Given the description of an element on the screen output the (x, y) to click on. 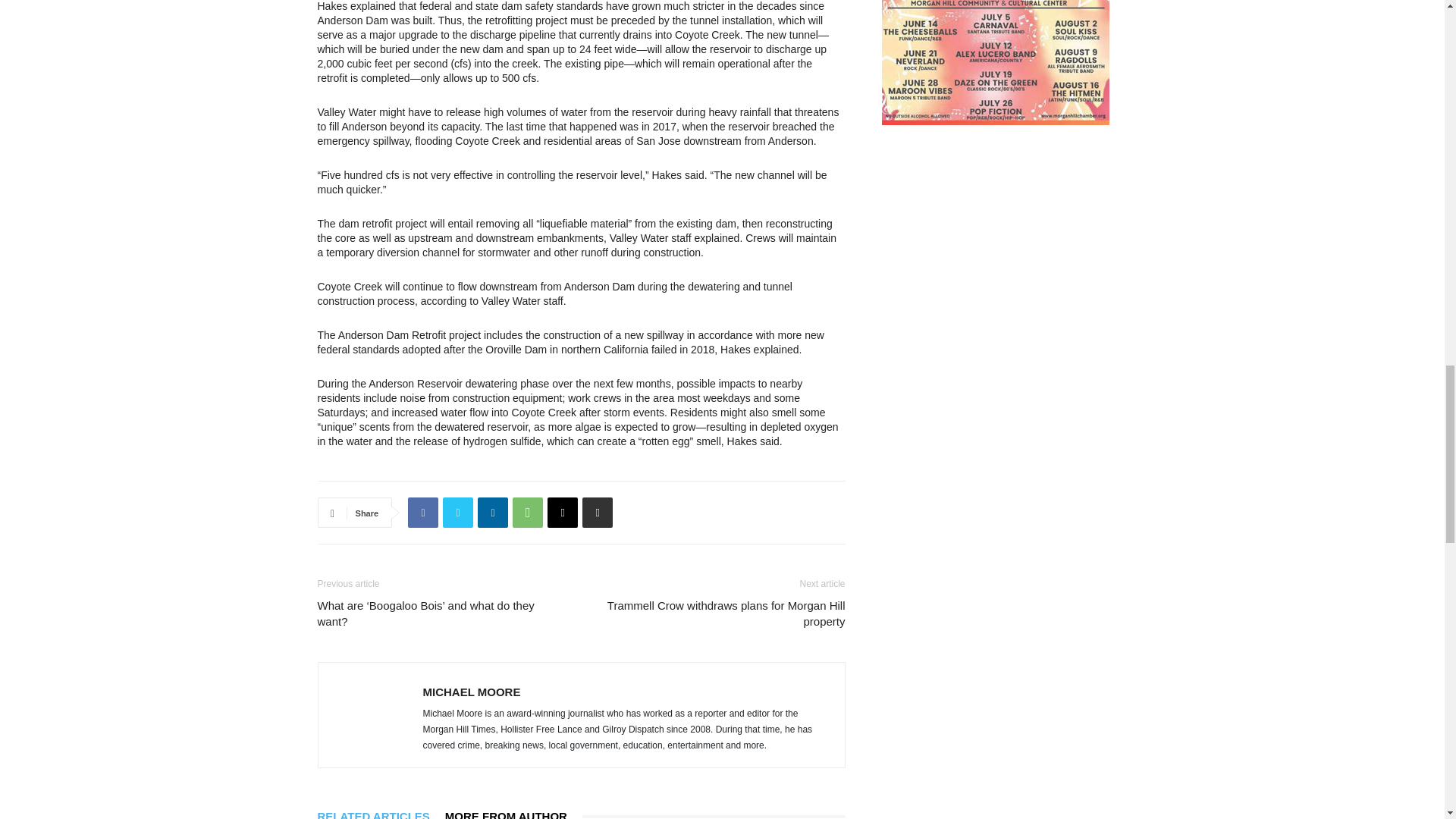
Linkedin (492, 512)
Facebook (422, 512)
Email (562, 512)
WhatsApp (527, 512)
Twitter (457, 512)
Print (597, 512)
